Given the description of an element on the screen output the (x, y) to click on. 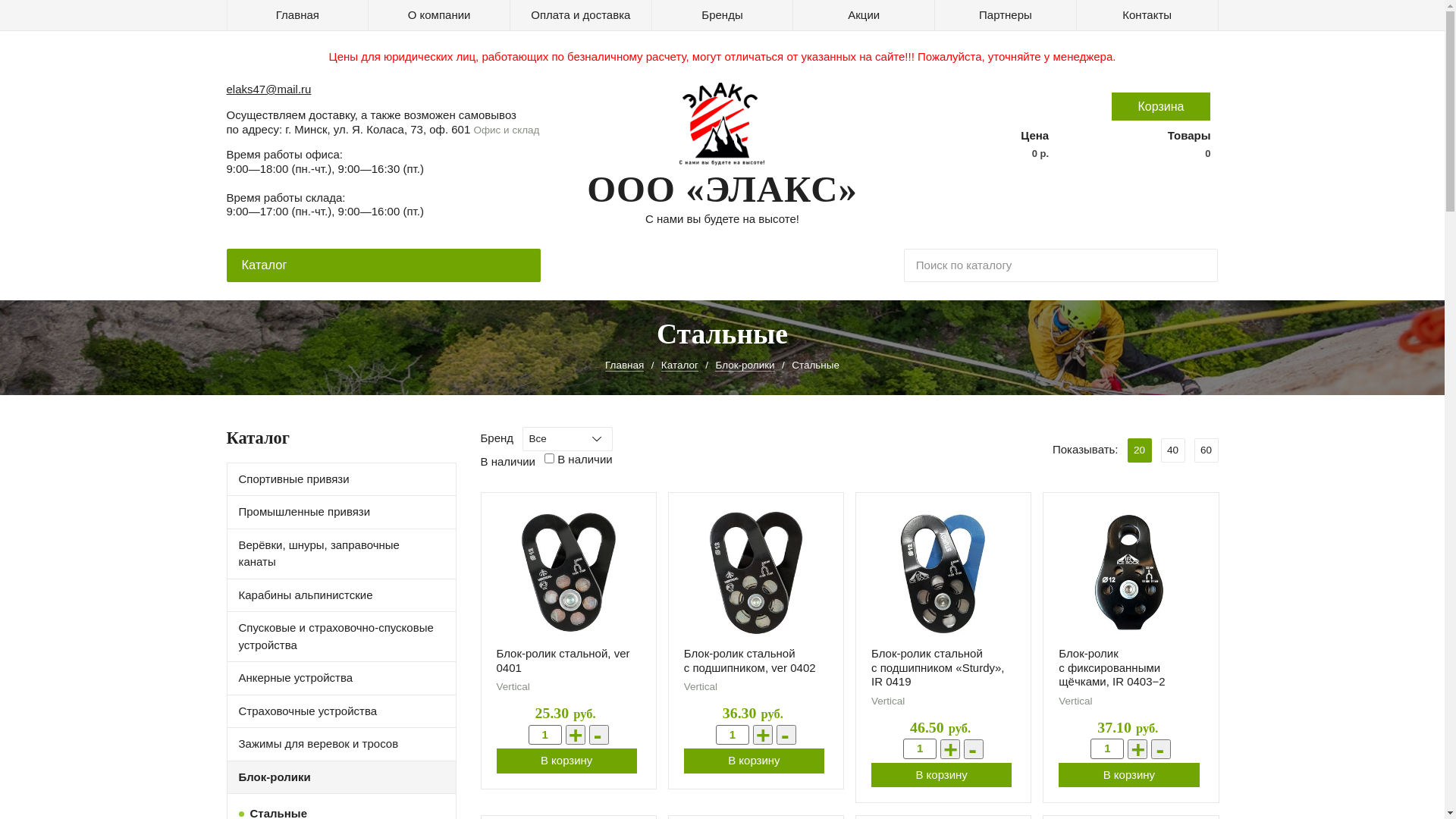
elaks47@mail.ru Element type: text (267, 88)
